Given the description of an element on the screen output the (x, y) to click on. 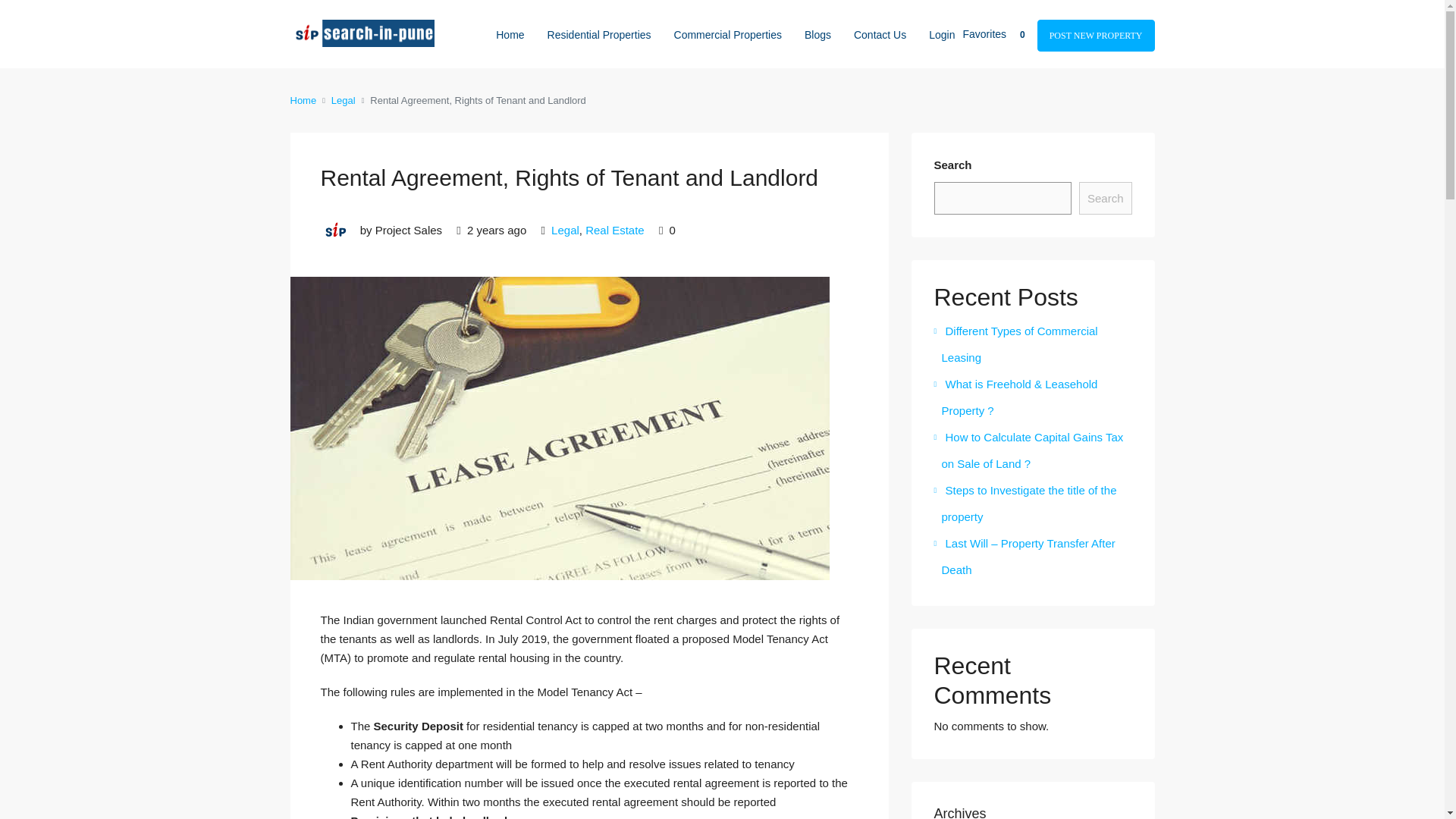
POST NEW PROPERTY (1095, 35)
Commercial Properties (727, 33)
Contact Us (880, 33)
Favorites 0 (999, 33)
Real Estate (615, 229)
Login (945, 34)
Home (302, 99)
Legal (343, 99)
Residential Properties (598, 33)
Legal (565, 229)
